Given the description of an element on the screen output the (x, y) to click on. 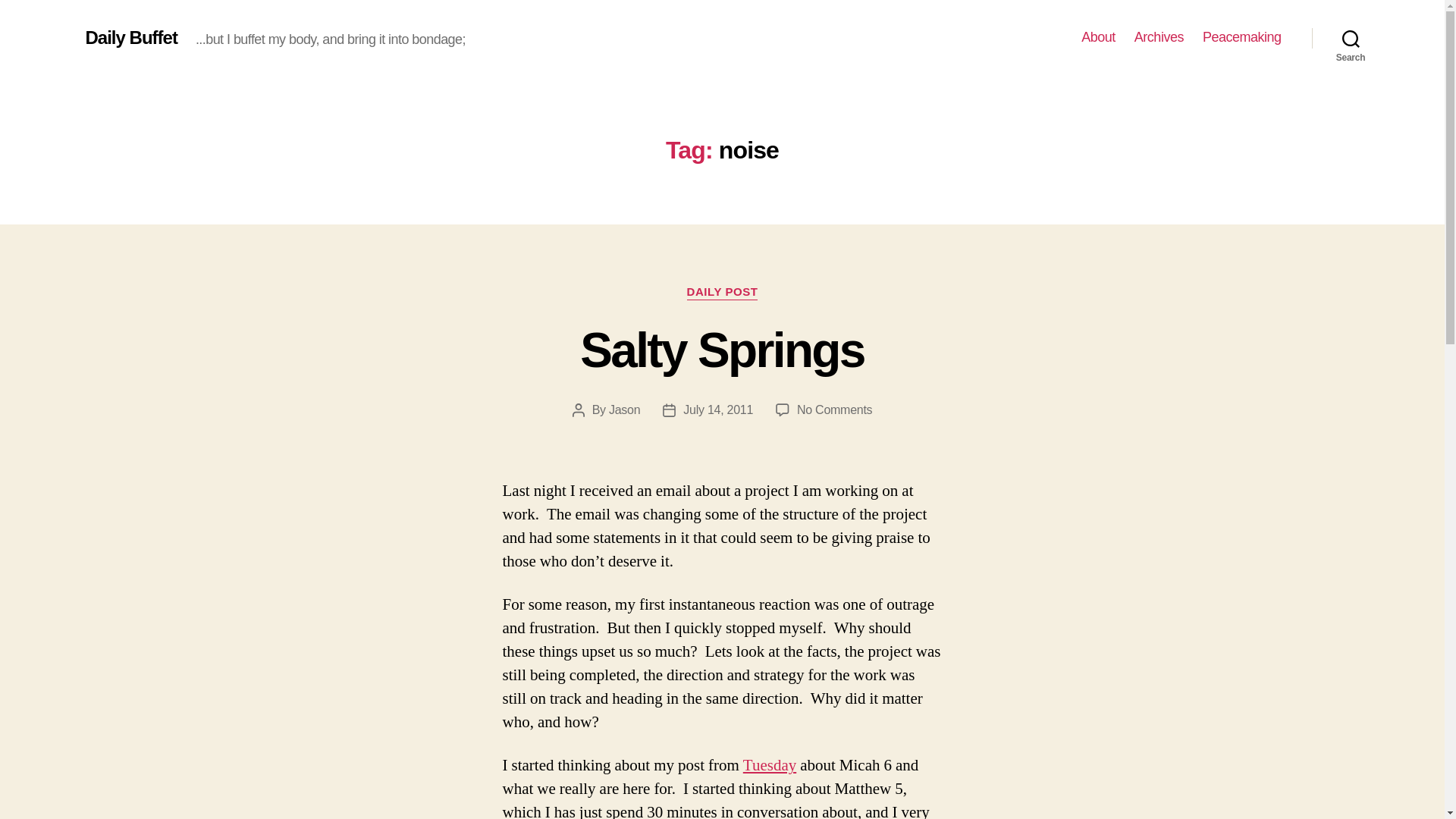
Jason (624, 409)
About (1098, 37)
July 14, 2011 (717, 409)
Checked in at Lame (769, 765)
Search (1350, 37)
Tuesday (769, 765)
Archives (834, 409)
Daily Buffet (1158, 37)
Peacemaking (130, 37)
